Given the description of an element on the screen output the (x, y) to click on. 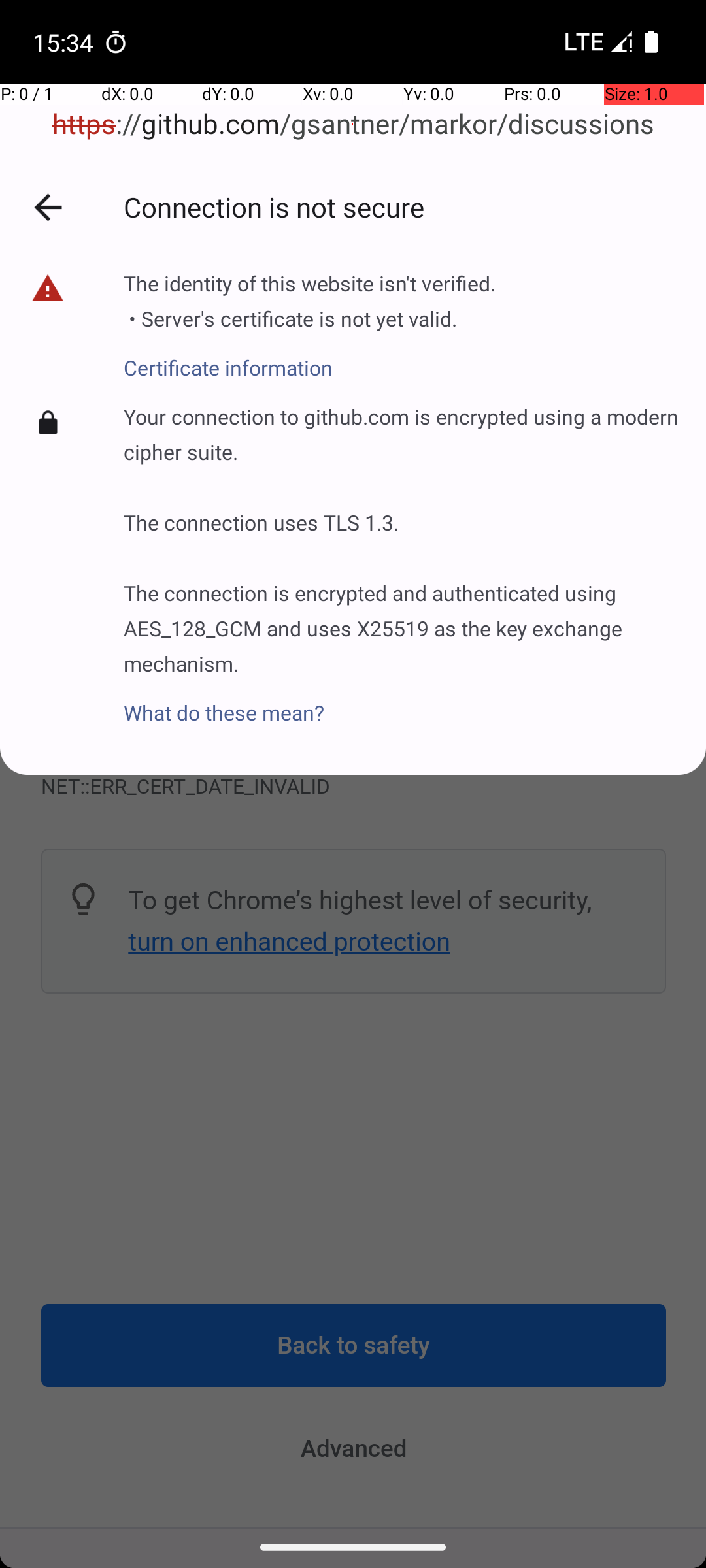
The identity of this website isn't verified.
 • Server's certificate is not yet valid. Element type: android.widget.TextView (309, 300)
Certificate information Element type: android.widget.TextView (309, 356)
Your connection to github.com is encrypted using a modern cipher suite.

The connection uses TLS 1.3.

The connection is encrypted and authenticated using AES_128_GCM and uses X25519 as the key exchange mechanism. Element type: android.widget.TextView (400, 539)
What do these mean? Element type: android.widget.TextView (400, 701)
https://github.com/gsantner/markor/discussions Element type: android.widget.TextView (352, 124)
